Given the description of an element on the screen output the (x, y) to click on. 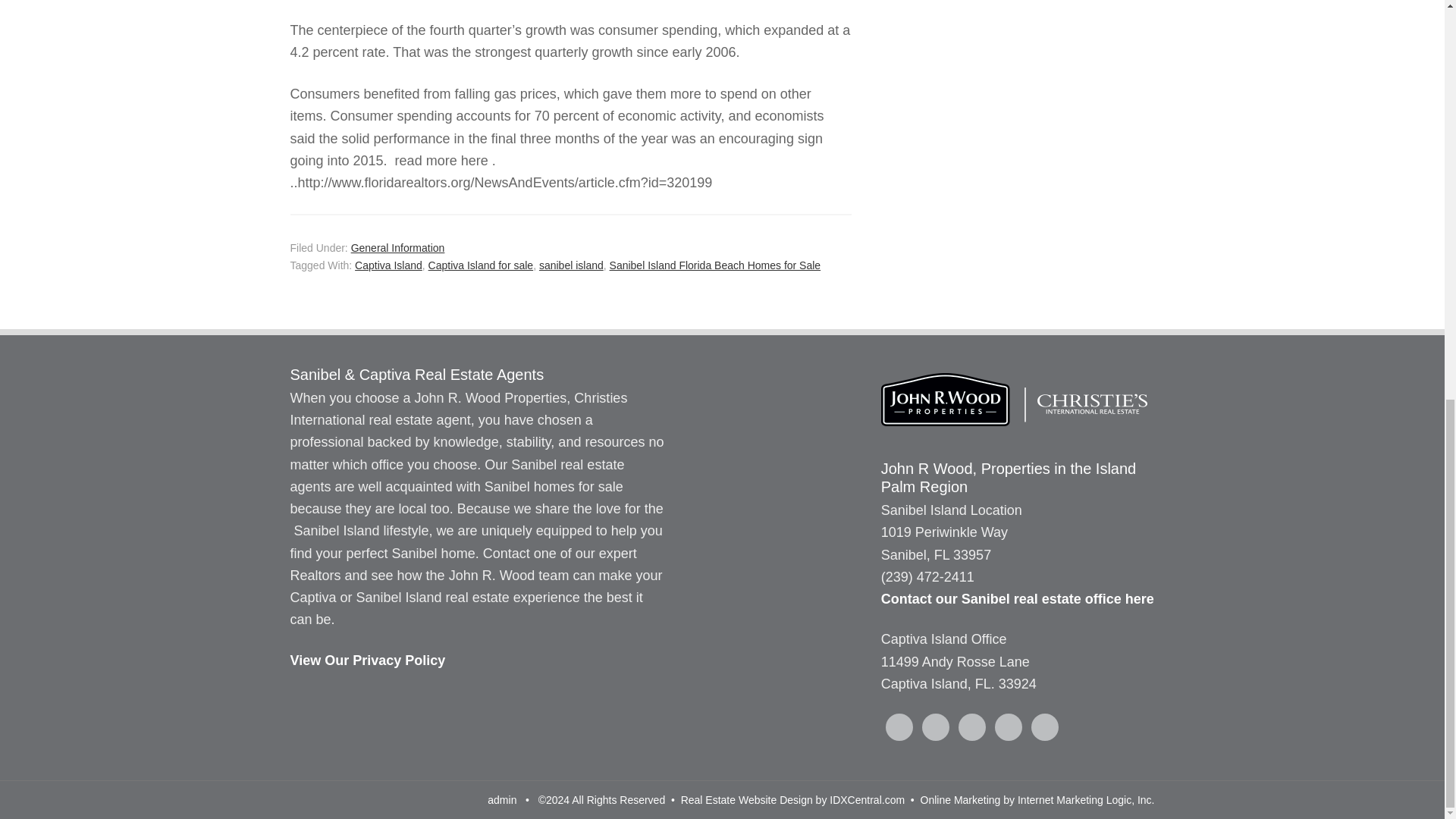
Contact our Sanibel real estate office here (1017, 598)
Real Estate Website Design (746, 799)
General Information (397, 247)
Search Marketing (960, 799)
sanibel island (571, 265)
Captiva Island for sale (481, 265)
Captiva Island (388, 265)
View Our Privacy Policy (367, 660)
Sanibel Island Florida Beach Homes for Sale (715, 265)
